Given the description of an element on the screen output the (x, y) to click on. 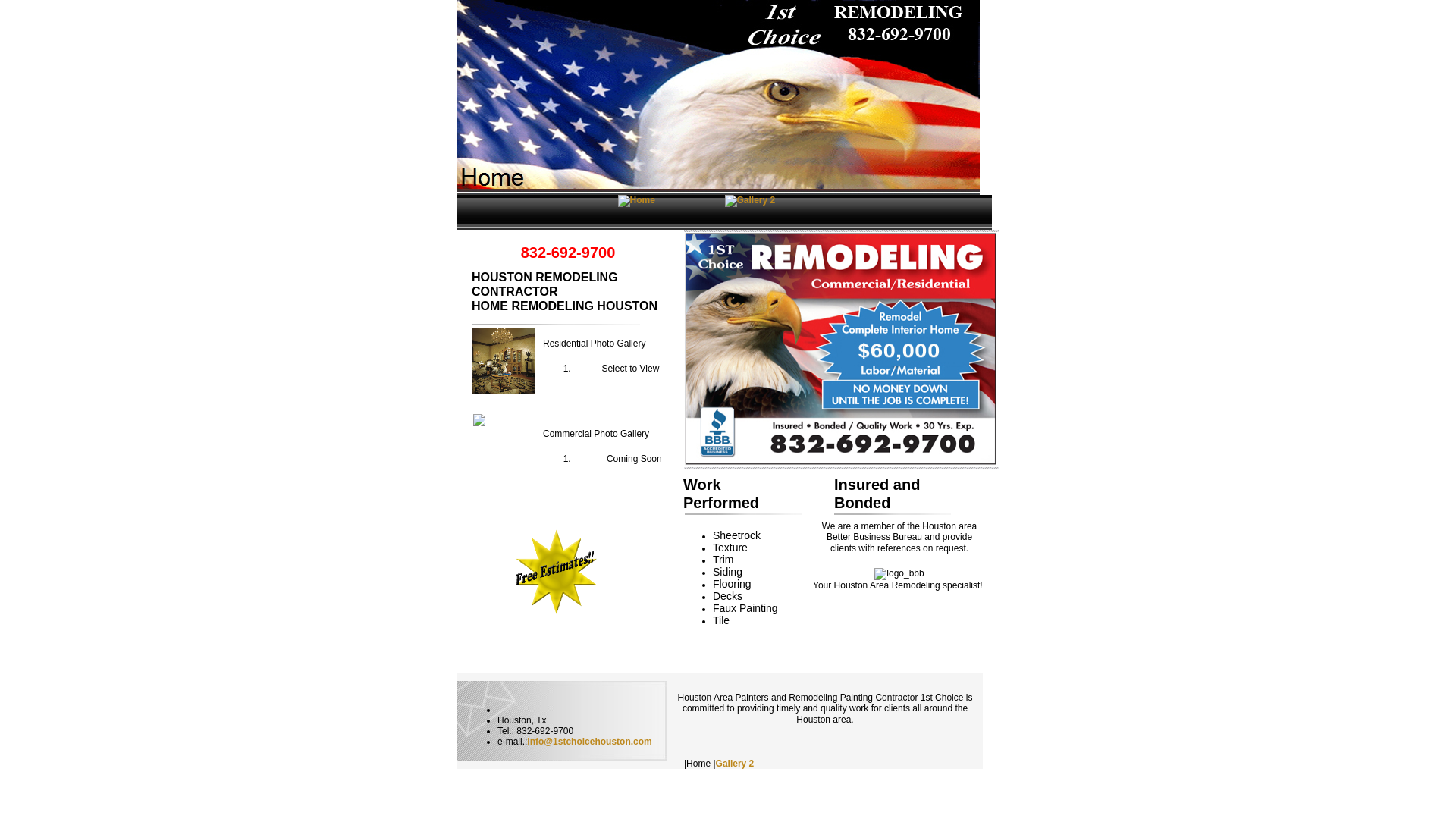
info@1stchoicehouston.com Element type: text (589, 741)
Free Estimates3 Element type: hover (557, 571)
logo_bbb Element type: hover (898, 573)
Home Element type: hover (717, 97)
Gallery 2 Element type: text (734, 763)
Gallery 2 Element type: hover (749, 200)
Home Element type: hover (635, 200)
